Given the description of an element on the screen output the (x, y) to click on. 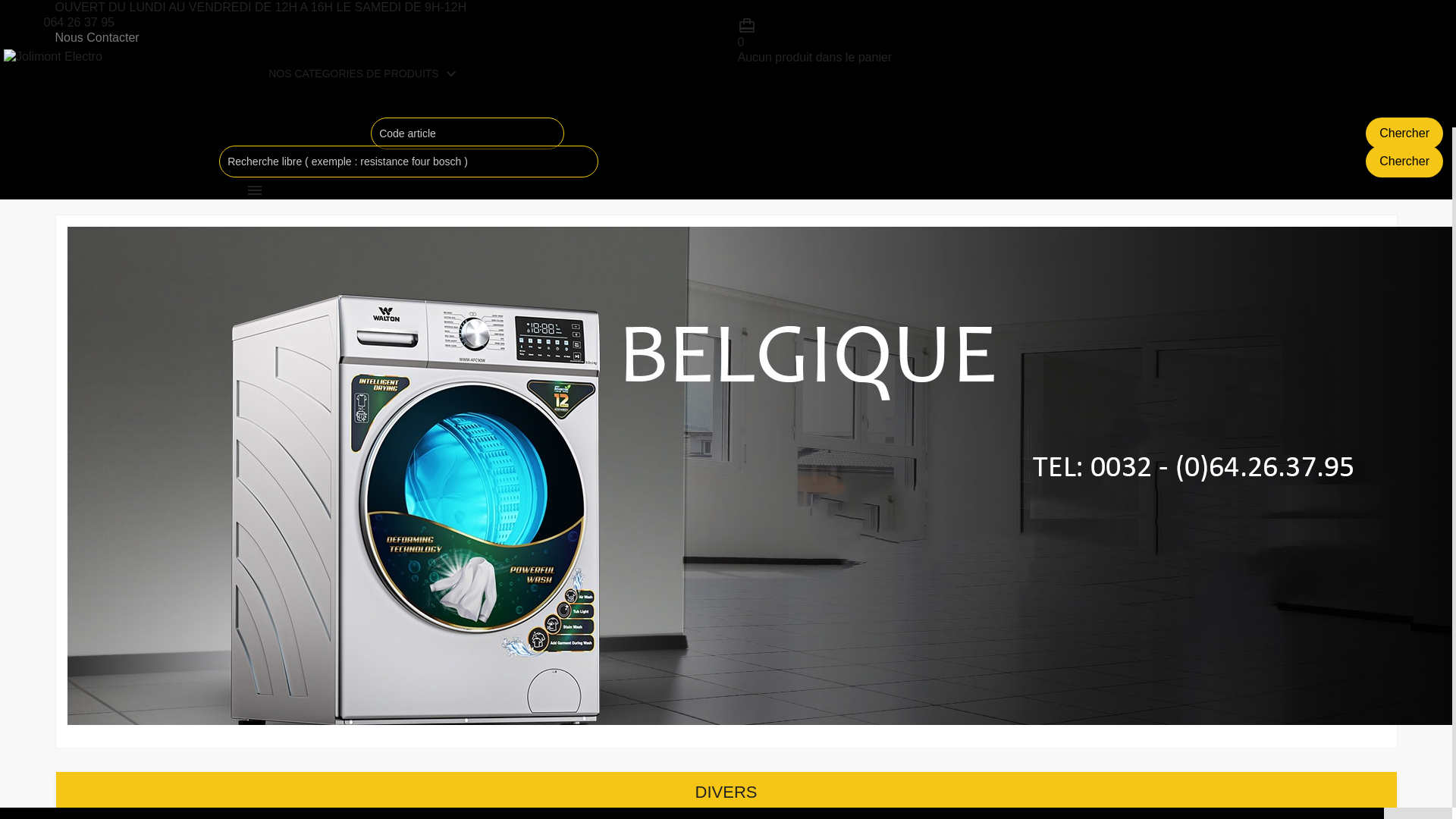
Chercher Element type: text (1404, 161)
Nous Contacter Element type: text (96, 37)
NOS CATEGORIES DE PRODUITS Element type: text (355, 72)
Chercher Element type: text (1404, 133)
